Given the description of an element on the screen output the (x, y) to click on. 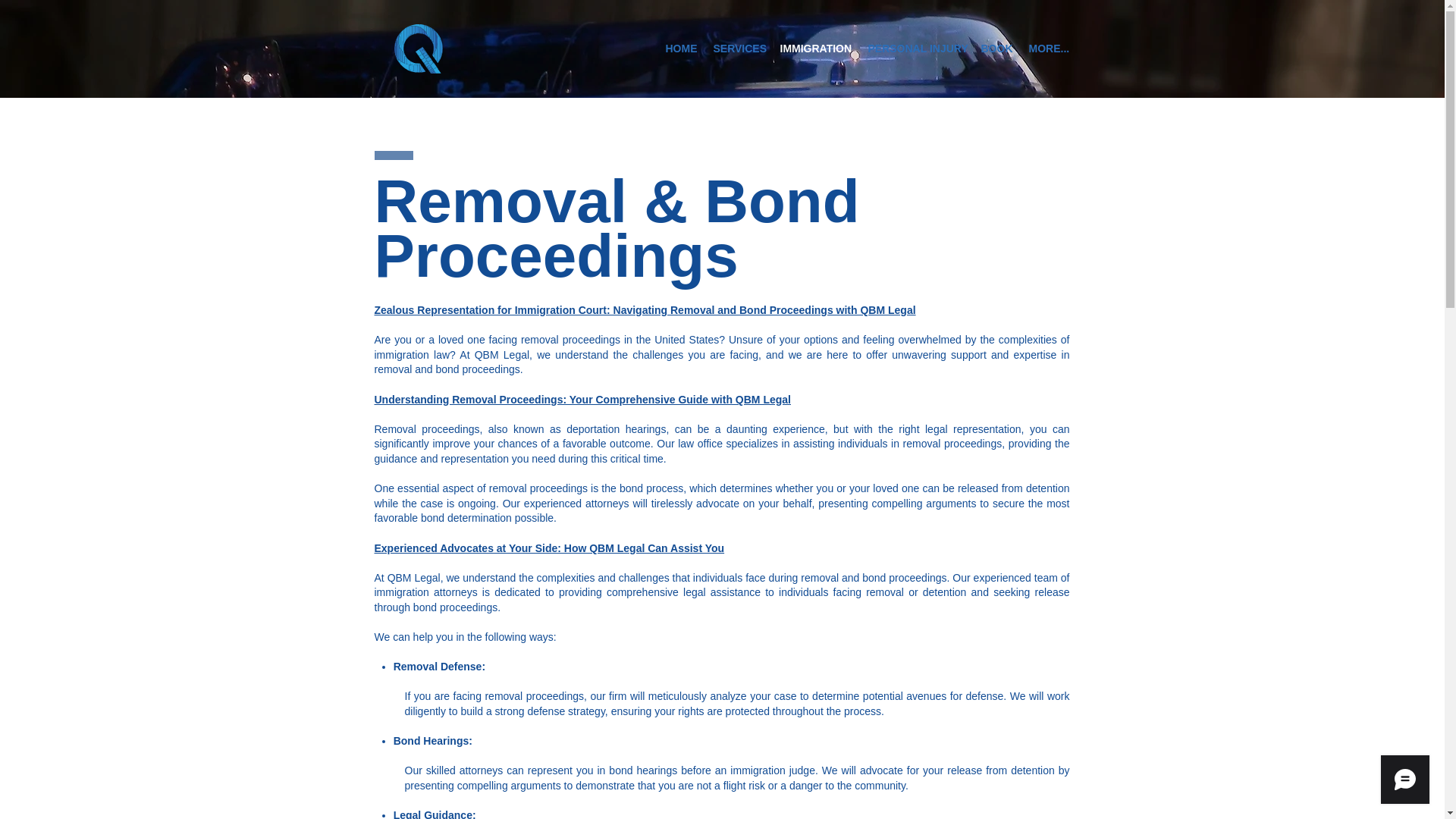
PERSONAL INJURY (916, 48)
HOME (680, 48)
IMMIGRATION (815, 48)
SERVICES (737, 48)
BOOK (996, 48)
